Given the description of an element on the screen output the (x, y) to click on. 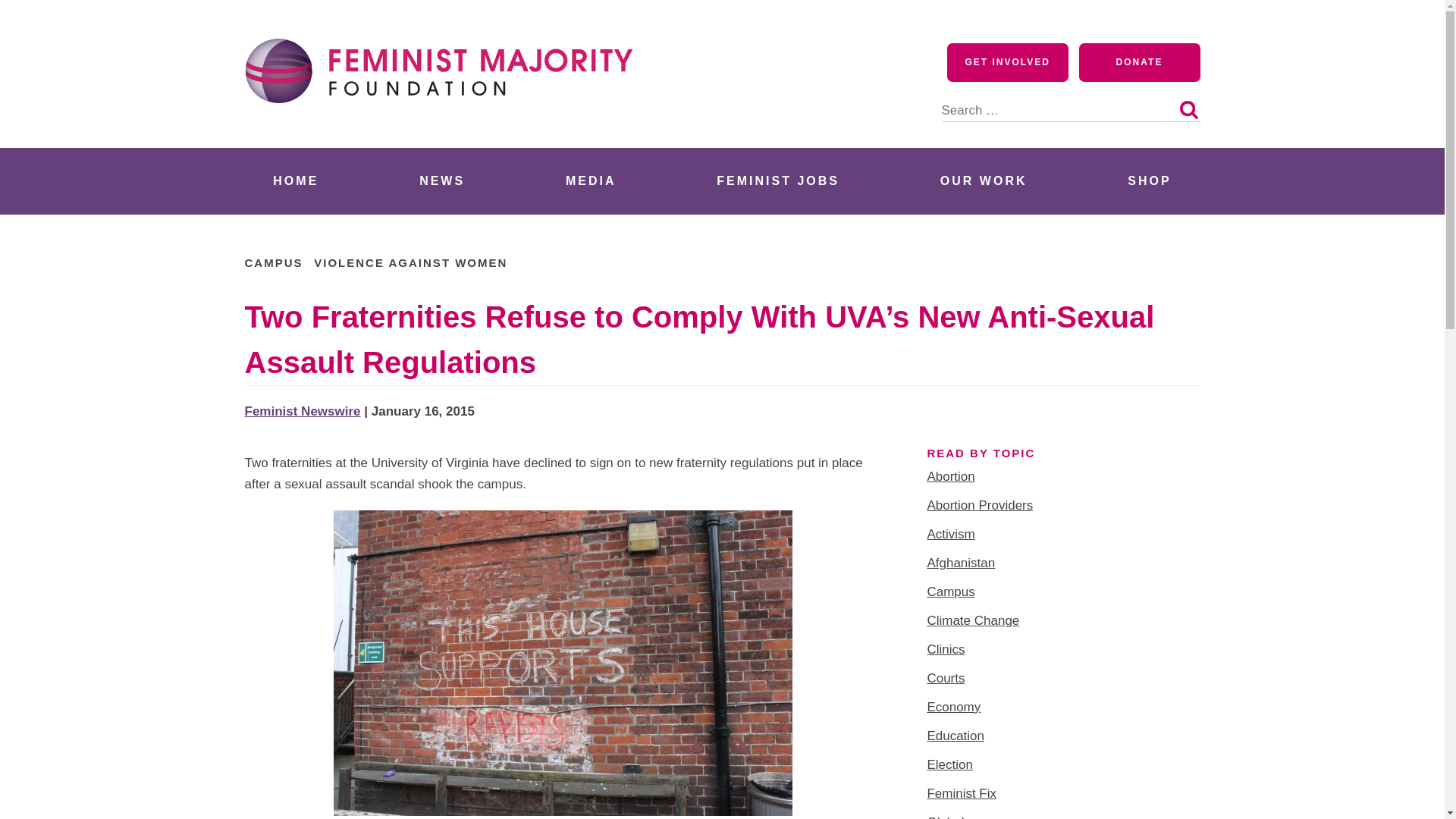
SHOP (1149, 181)
Feminist Newswire (301, 411)
Feminist Majority Foundation (445, 130)
HOME (295, 181)
CAMPUS (273, 262)
MEDIA (591, 181)
OUR WORK (983, 181)
Search (1187, 109)
GET INVOLVED (1007, 62)
NEWS (441, 181)
